Given the description of an element on the screen output the (x, y) to click on. 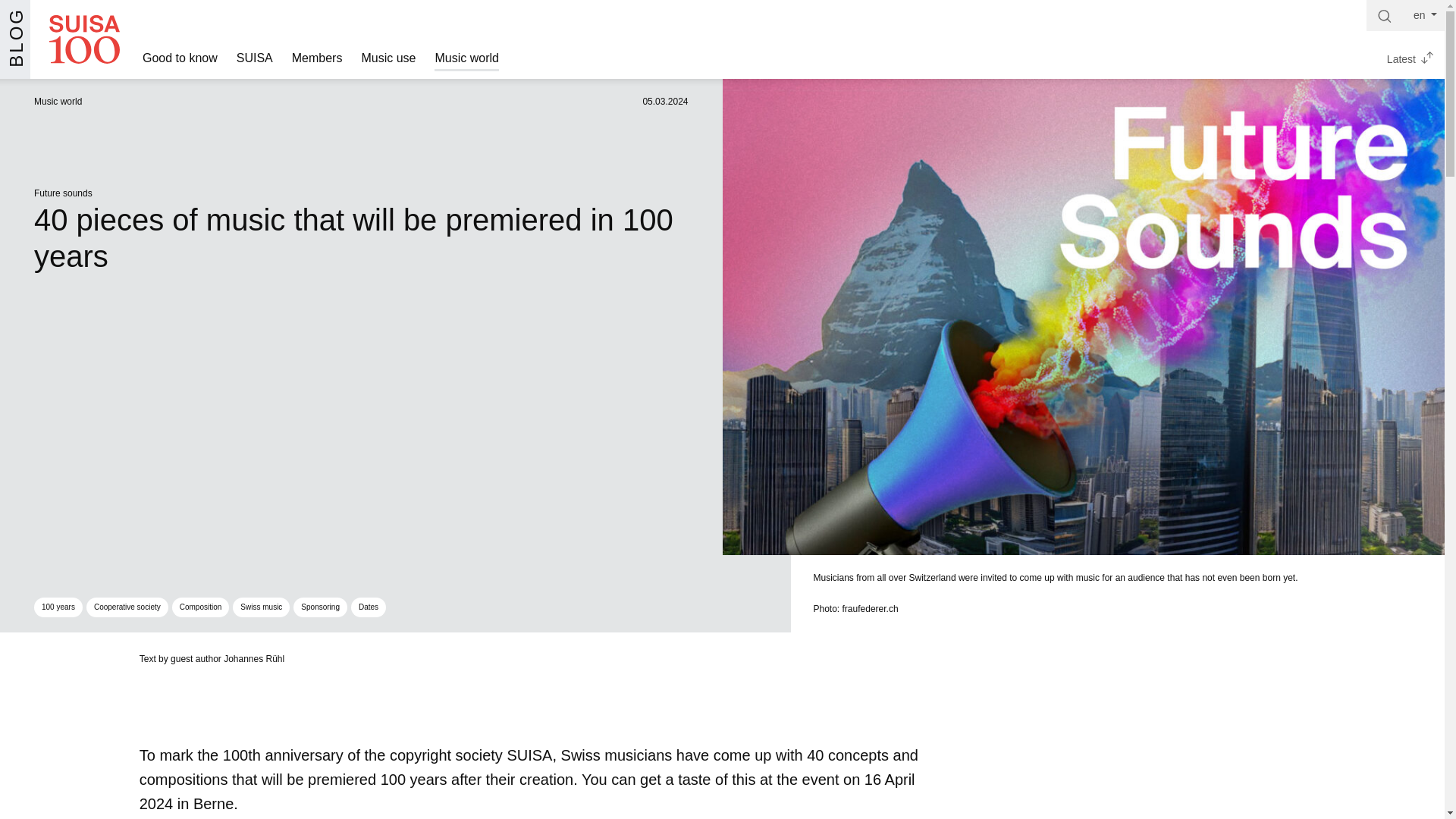
Cooperative society (126, 607)
Sponsoring (320, 607)
Music world (465, 59)
Music world (57, 101)
Good to know (179, 59)
Members (317, 59)
Music use (387, 59)
SUISA (254, 59)
100 years (57, 607)
Composition (200, 607)
Dates (367, 607)
Swiss music (260, 607)
